Given the description of an element on the screen output the (x, y) to click on. 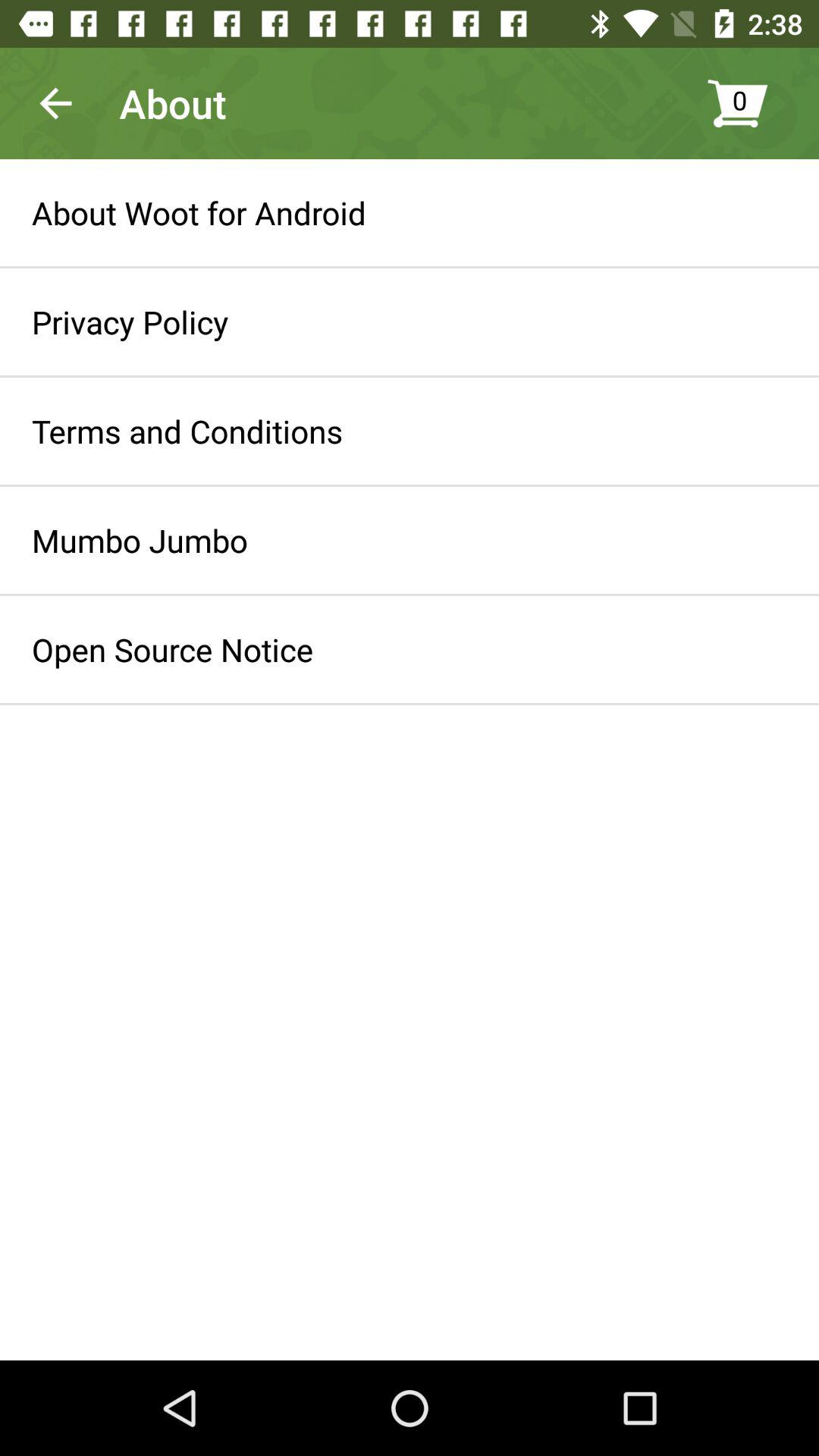
tap the icon below terms and conditions (139, 539)
